Given the description of an element on the screen output the (x, y) to click on. 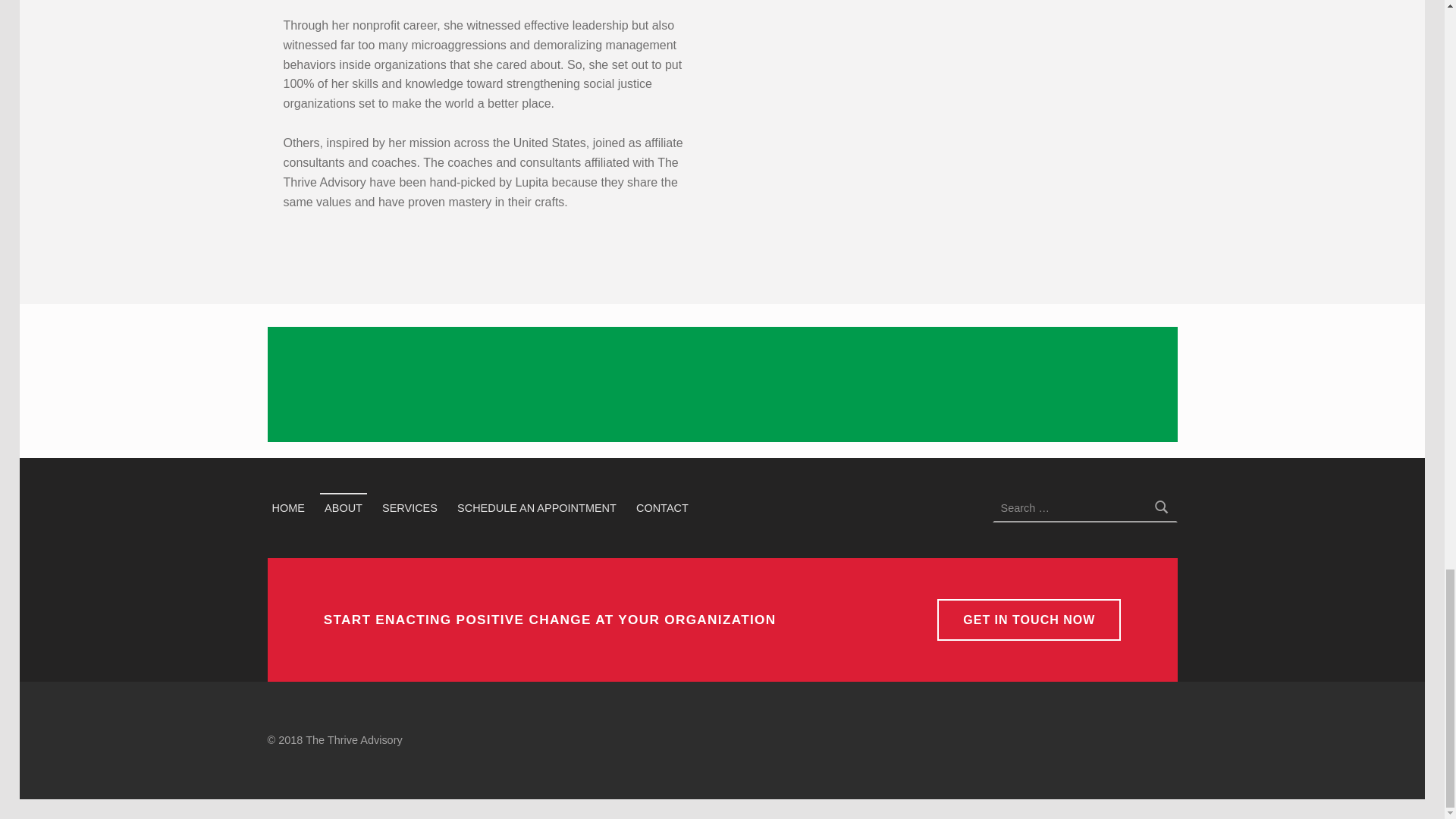
GET IN TOUCH NOW (1029, 618)
HOME (287, 507)
SCHEDULE AN APPOINTMENT (536, 507)
CONTACT (662, 507)
ABOUT (343, 507)
SERVICES (409, 507)
